Given the description of an element on the screen output the (x, y) to click on. 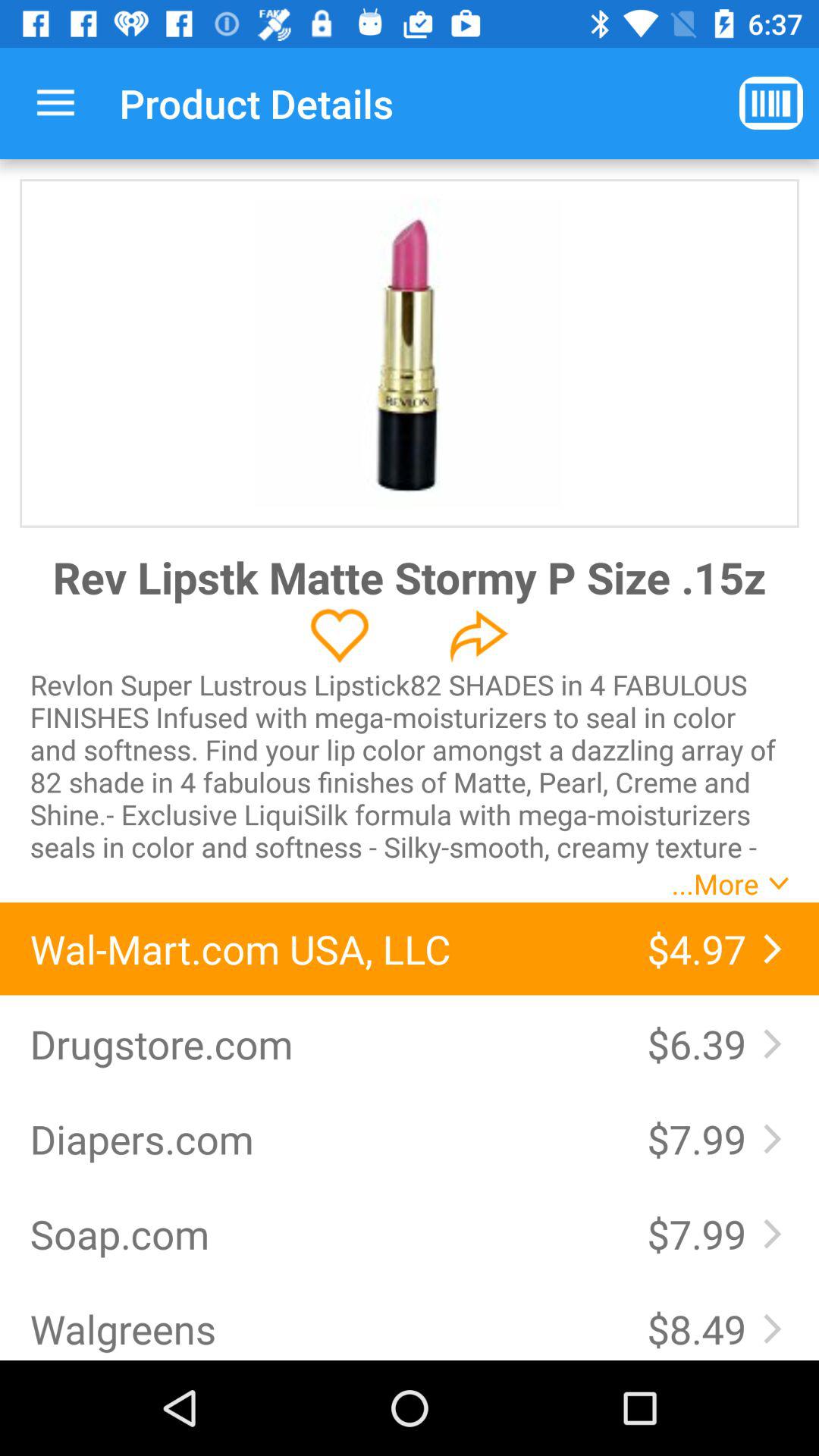
select icon below the rev lipstk matte item (339, 636)
